Given the description of an element on the screen output the (x, y) to click on. 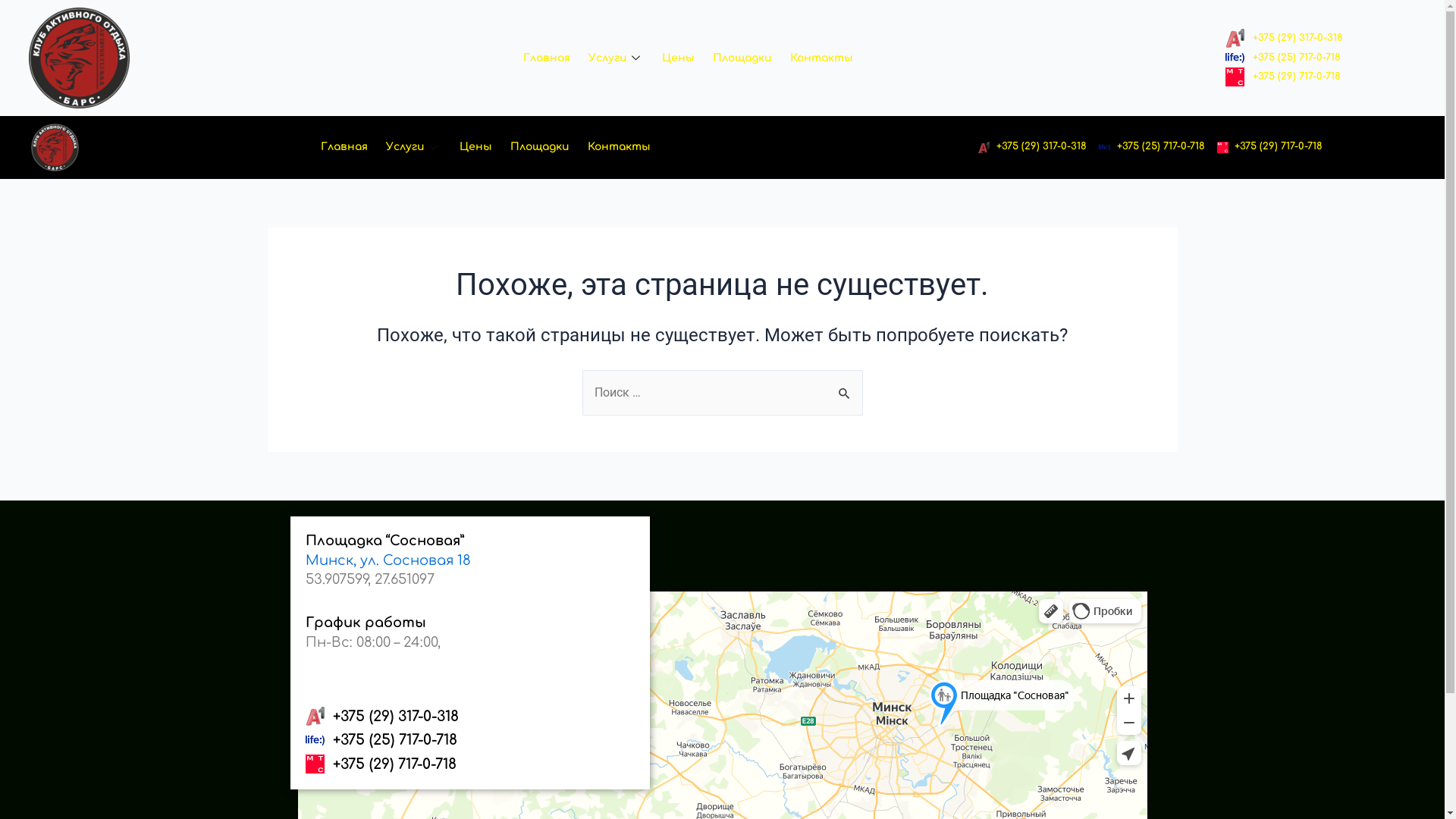
+375 (29) 717-0-718 Element type: text (1282, 77)
+375 (29) 317-0-318 Element type: text (468, 716)
+375 (29) 317-0-318 Element type: text (1032, 146)
+375 (29) 717-0-718 Element type: text (468, 764)
+375 (29) 717-0-718 Element type: text (1270, 146)
+375 (25) 717-0-718 Element type: text (468, 739)
+375 (25) 717-0-718 Element type: text (1151, 146)
+375 (29) 317-0-318 Element type: text (1284, 38)
+375 (25) 717-0-718 Element type: text (1282, 58)
